Given the description of an element on the screen output the (x, y) to click on. 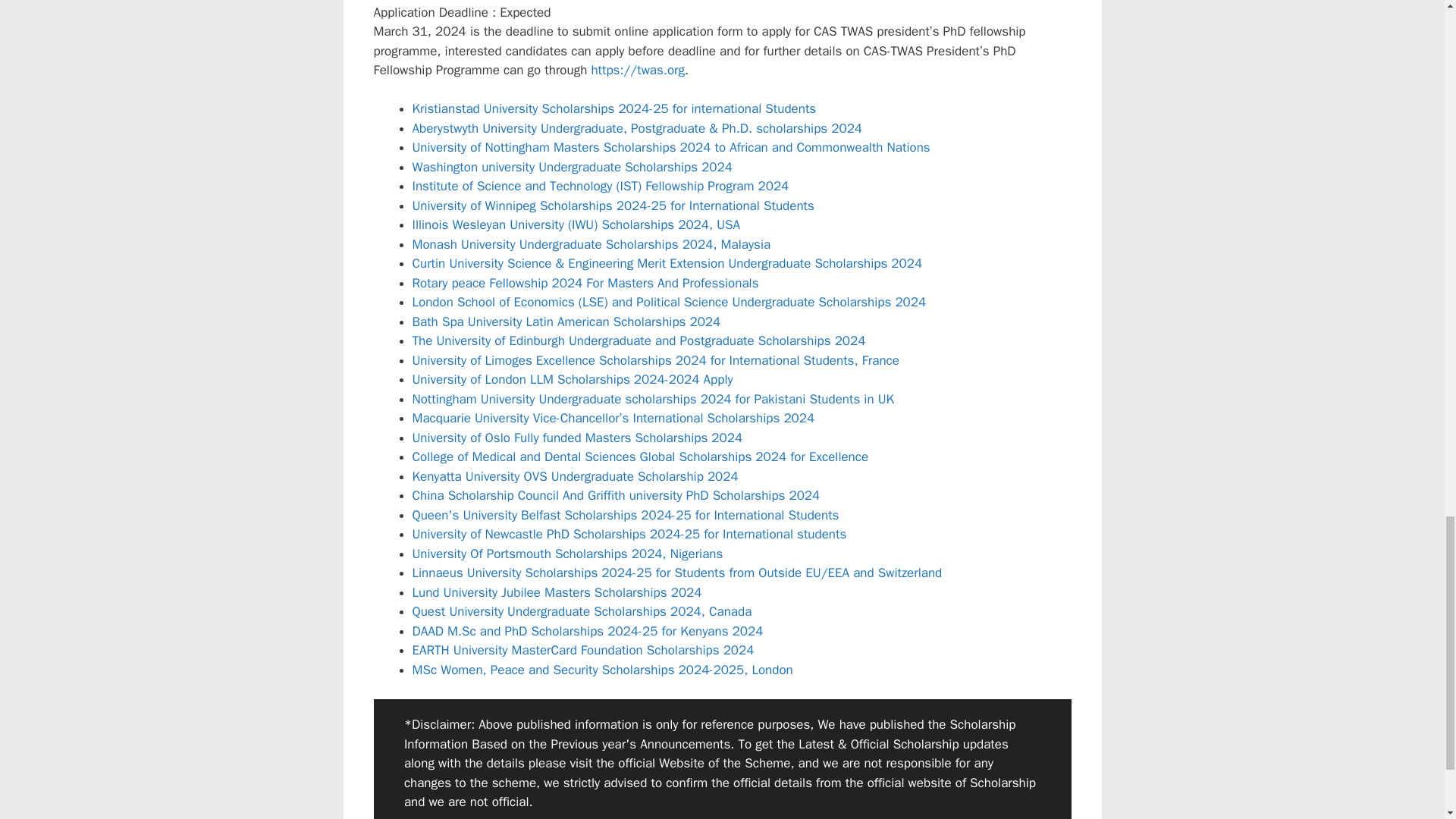
Bath Spa University Latin American Scholarships 2024 (566, 321)
Rotary peace Fellowship 2024 For Masters And Professionals (585, 283)
Quest University Undergraduate Scholarships 2024, Canada (582, 611)
Monash University Undergraduate Scholarships 2024, Malaysia (591, 244)
University Of Portsmouth Scholarships 2024, Nigerians (567, 553)
Washington university Undergraduate Scholarships 2024 (572, 166)
University of Oslo Fully funded Masters Scholarships 2024 (577, 437)
